Given the description of an element on the screen output the (x, y) to click on. 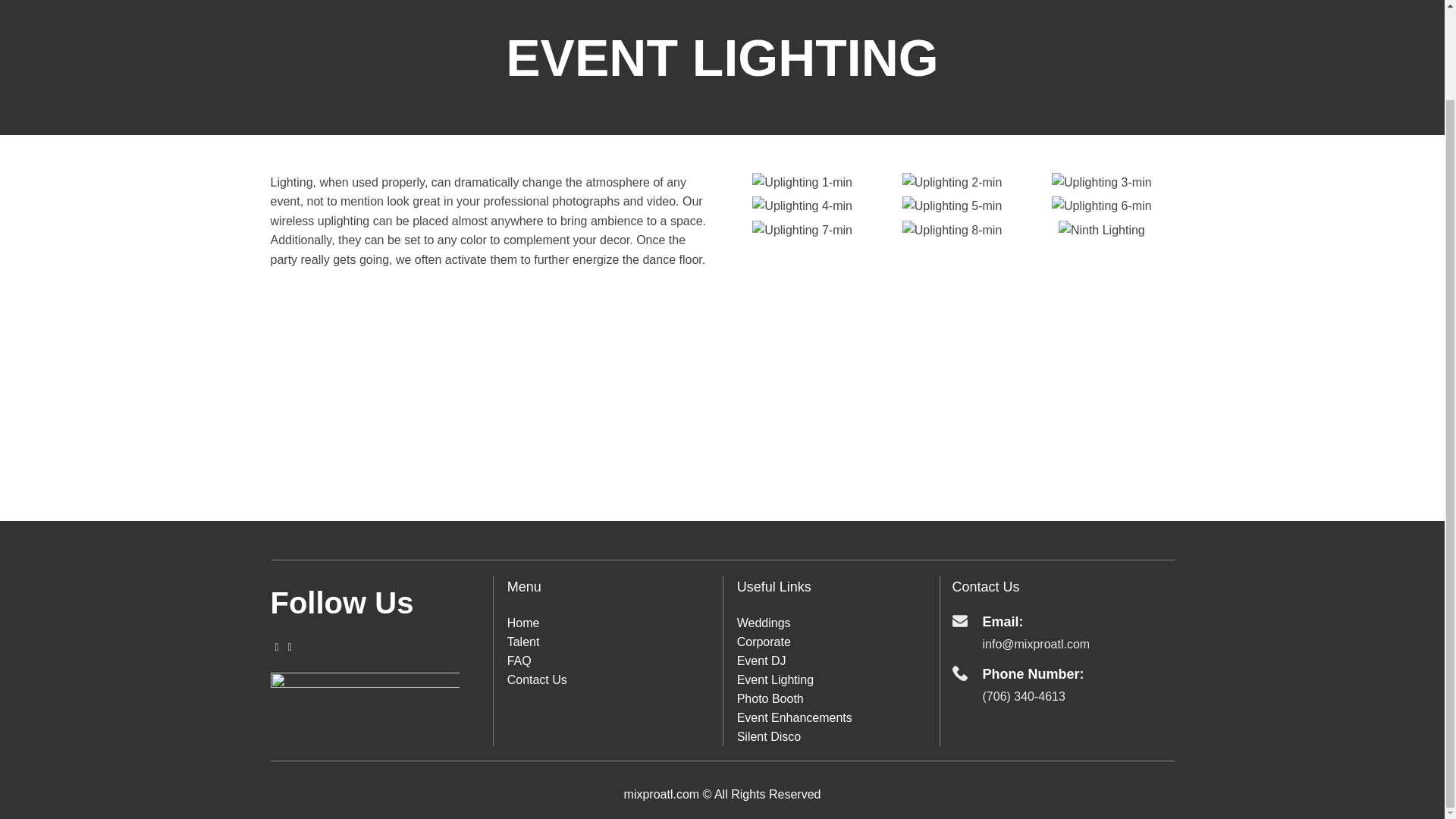
Contact Us (536, 679)
Event Lighting (774, 679)
Weddings (763, 622)
Home (523, 622)
Event Enhancements (793, 717)
Silent Disco (768, 736)
Event DJ (761, 660)
Photo Booth (769, 698)
Talent (523, 641)
Corporate (763, 641)
FAQ (518, 660)
